Given the description of an element on the screen output the (x, y) to click on. 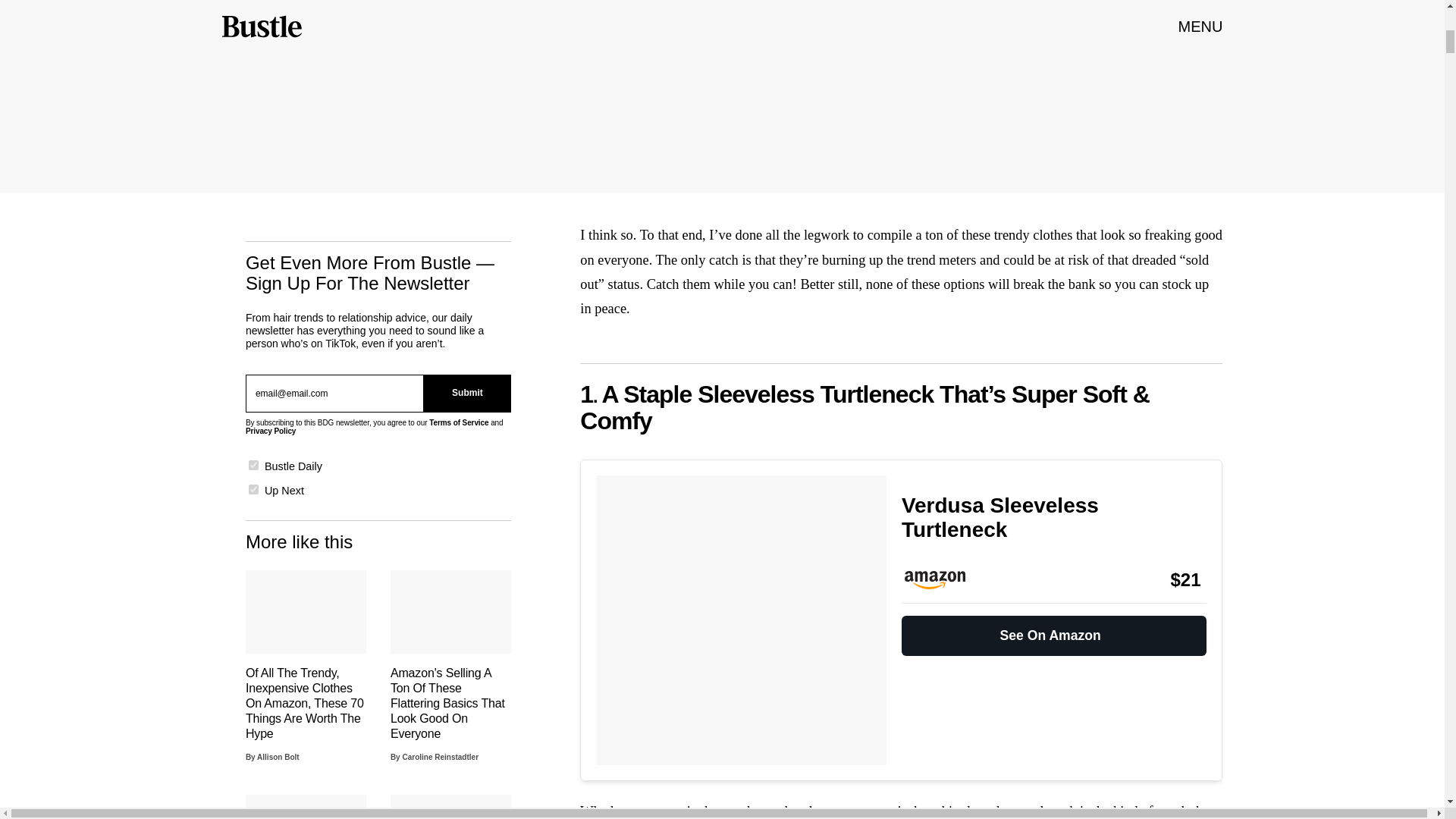
Amazon (941, 579)
sleeveless turtleneck (1018, 811)
See On Amazon (1054, 629)
